Given the description of an element on the screen output the (x, y) to click on. 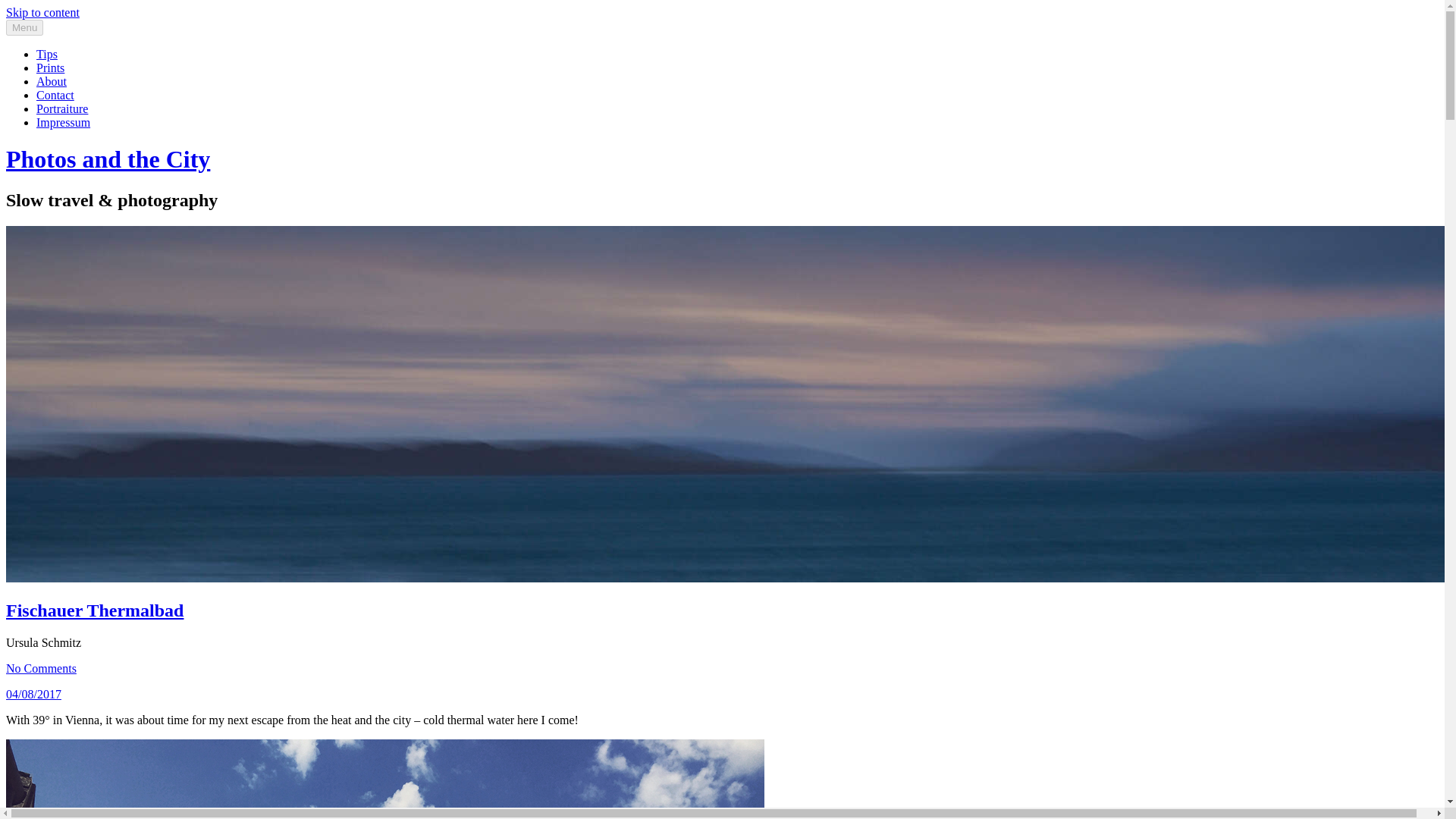
Menu (24, 27)
Impressum (63, 122)
Skip to content (42, 11)
About (51, 81)
Skip to content (42, 11)
Prints (50, 67)
Photos and the City (107, 158)
Fischauer Thermalbad (94, 609)
Contact (55, 94)
Portraiture (61, 108)
No Comments (41, 667)
Tips (47, 53)
